Given the description of an element on the screen output the (x, y) to click on. 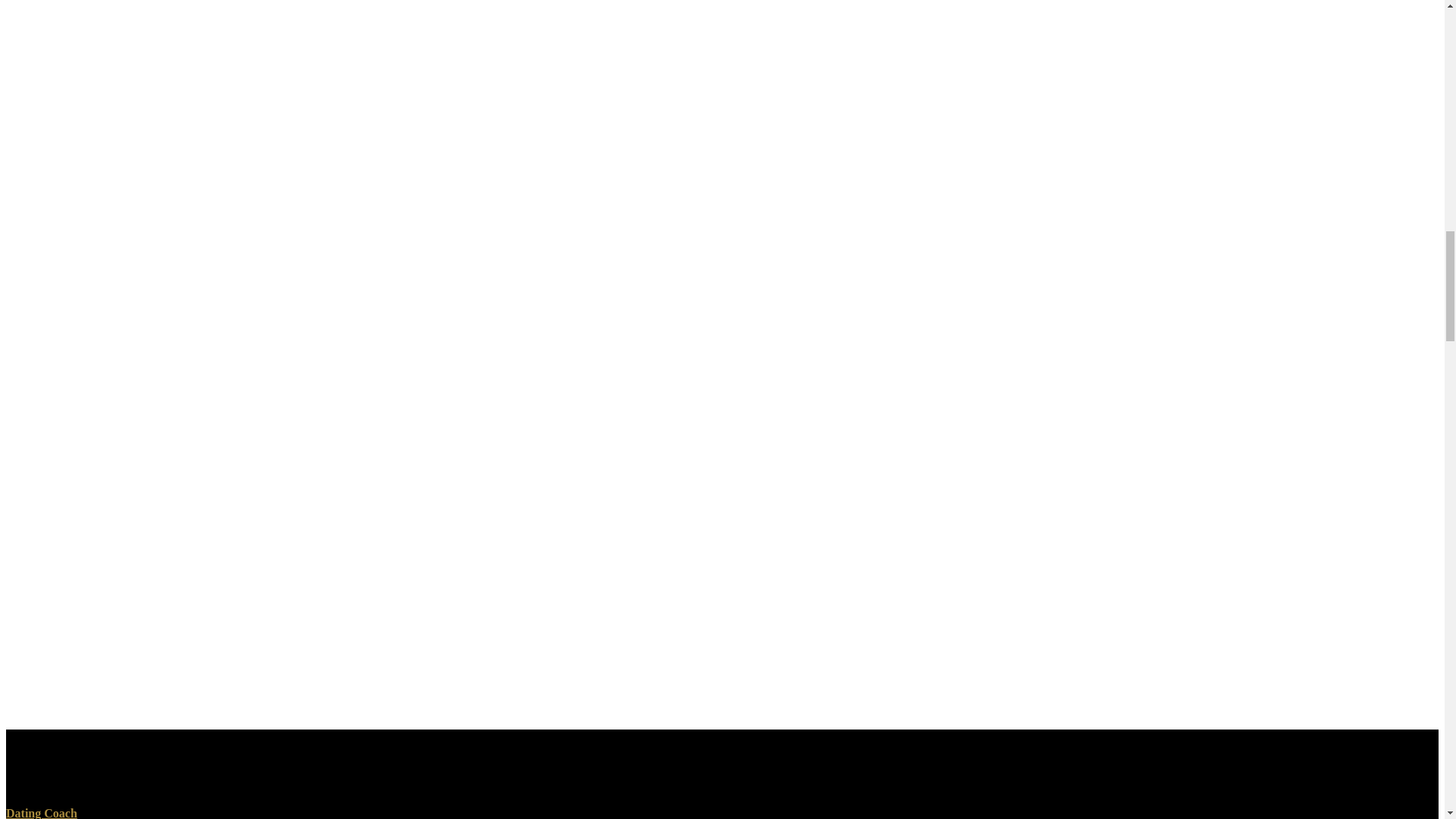
Dating Coach (41, 812)
